Given the description of an element on the screen output the (x, y) to click on. 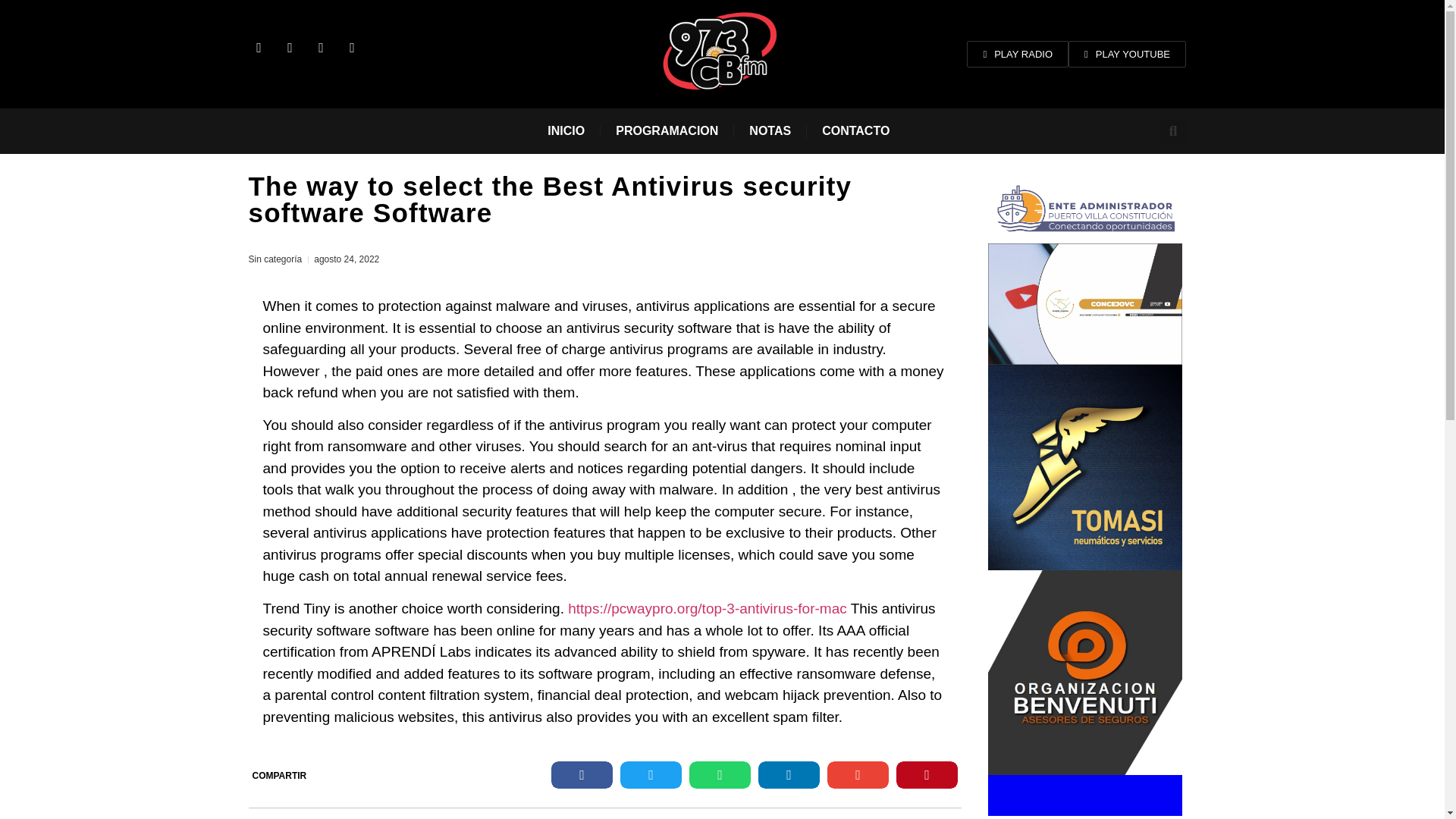
NOTAS (769, 130)
PROGRAMACION (666, 130)
CONTACTO (855, 130)
PLAY RADIO (1017, 53)
INICIO (565, 130)
PLAY YOUTUBE (1127, 53)
